Given the description of an element on the screen output the (x, y) to click on. 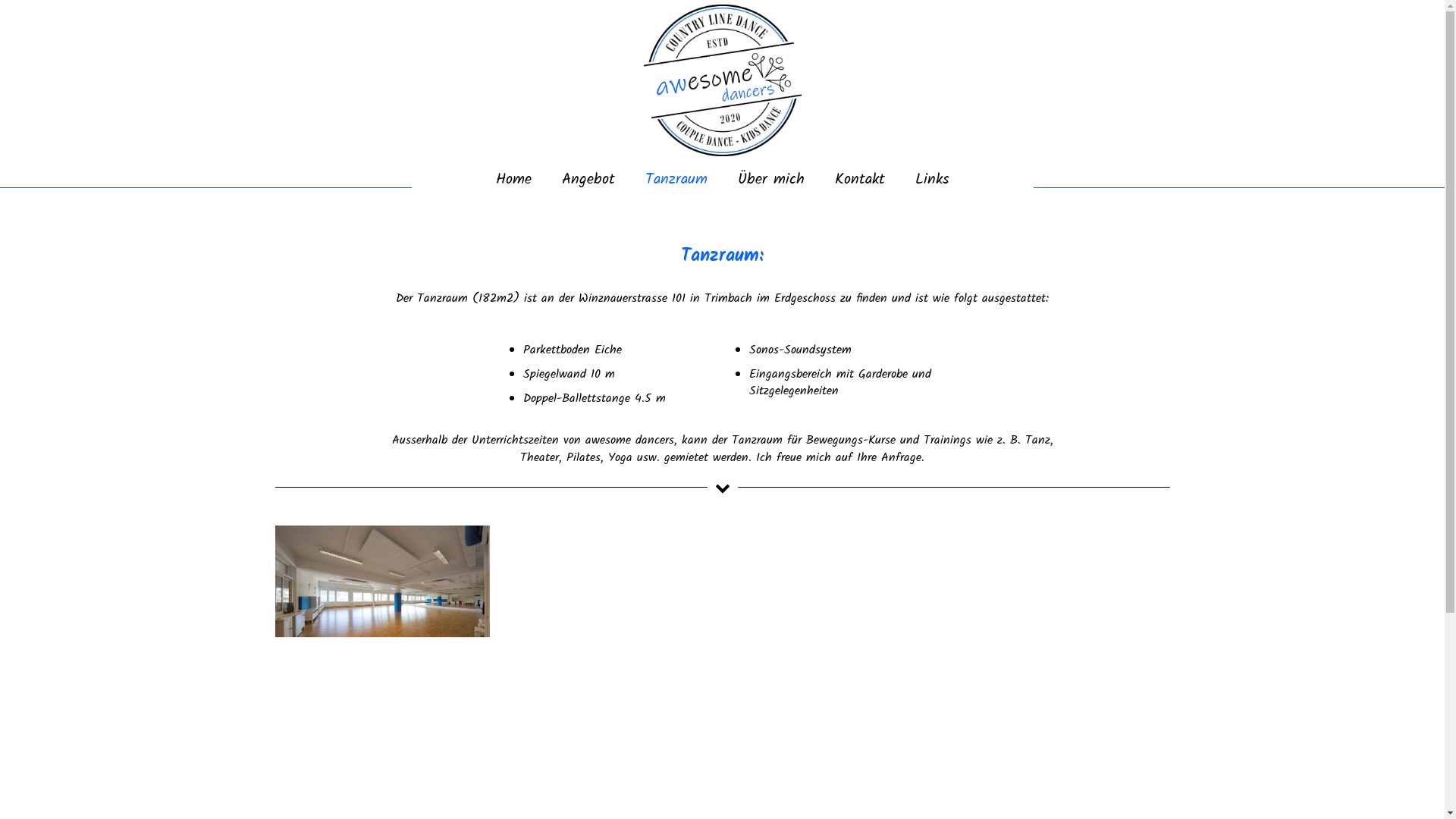
Kontakt Element type: text (859, 179)
Tanzraum Element type: text (675, 179)
Links Element type: text (939, 179)
Home Element type: text (505, 179)
Angebot Element type: text (587, 179)
